Given the description of an element on the screen output the (x, y) to click on. 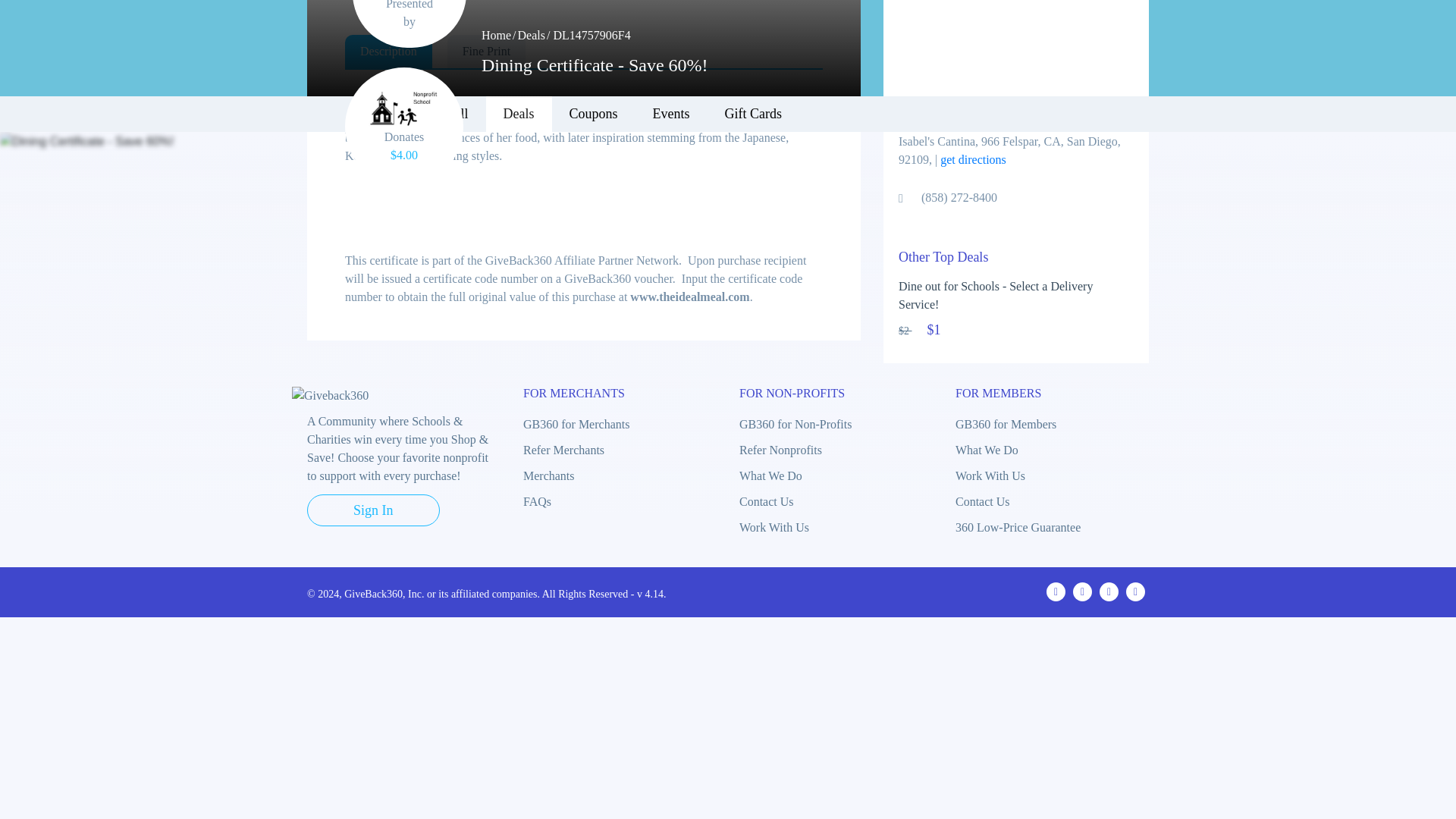
get directions (973, 159)
Facebook (1055, 591)
Deals (531, 35)
Giveback360 (330, 395)
Linkedin (1134, 591)
LOGIN (1111, 38)
Twitter (1082, 591)
Deals (518, 114)
Giveback360 (348, 47)
Gift Cards (754, 114)
Events (670, 114)
Description (388, 51)
MISSION HILLS HIGH (404, 107)
Instagram (1108, 591)
Register a code (941, 38)
